Given the description of an element on the screen output the (x, y) to click on. 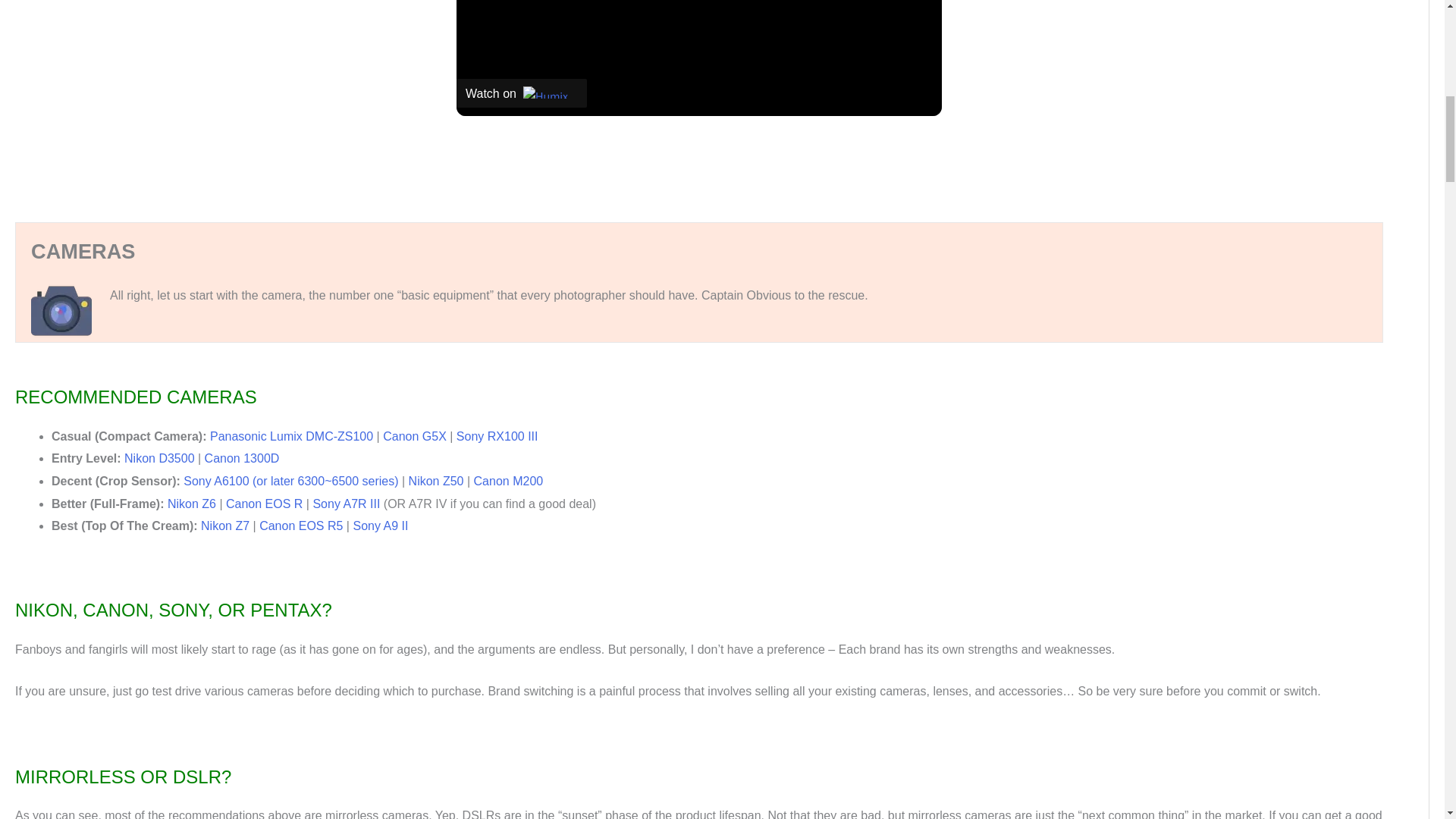
Panasonic Lumix DMC-ZS100 (290, 436)
Canon G5X (414, 436)
Watch on (521, 92)
Sony RX100 III (497, 436)
Nikon D3500 (159, 458)
Canon 1300D (242, 458)
